Given the description of an element on the screen output the (x, y) to click on. 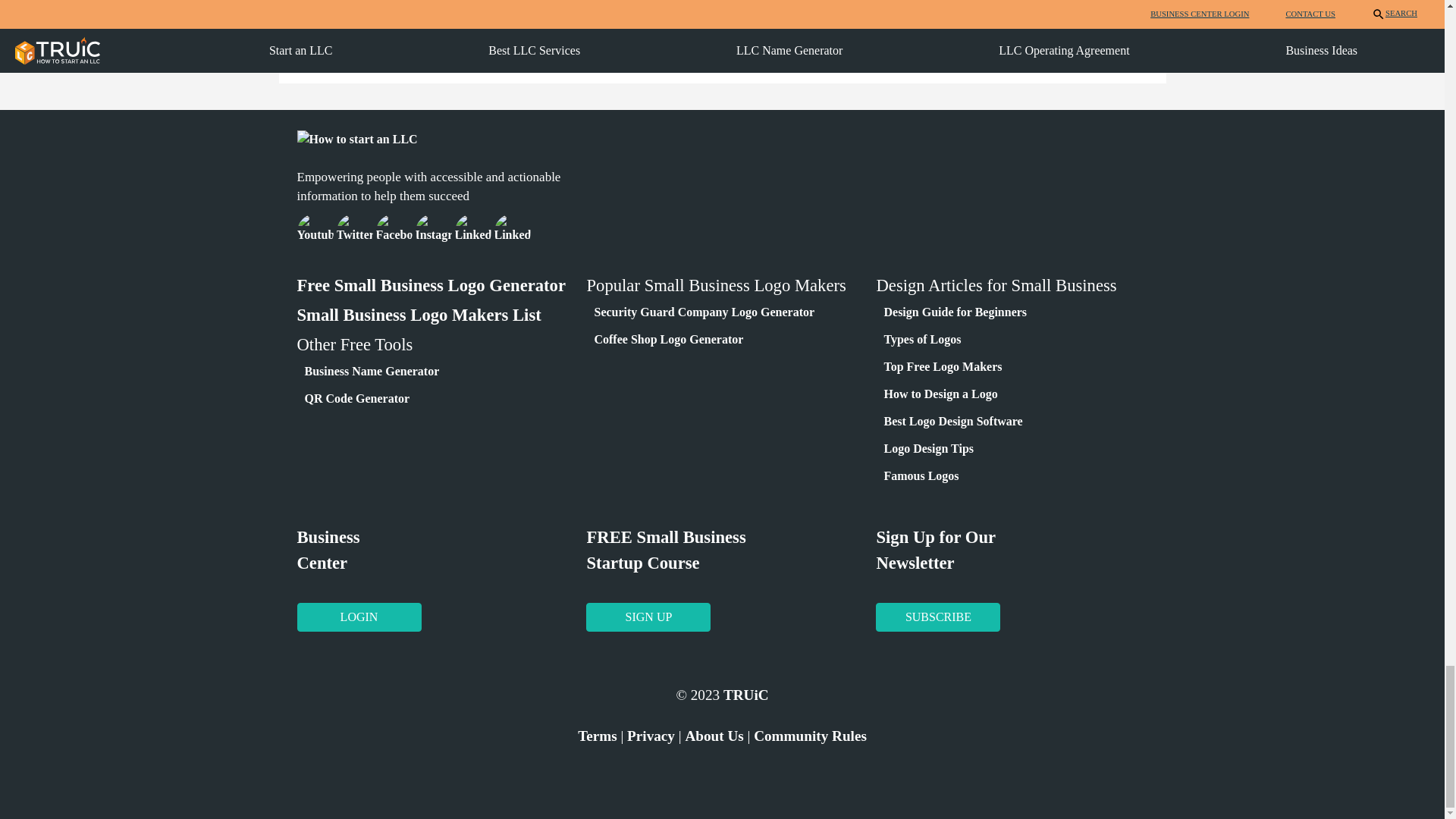
Business Name Generator (371, 370)
Follow us on Instagram (432, 229)
Security Guard Company Logo Generator (703, 311)
Small Business Logo Makers List (419, 314)
Check us out on LinkedIn (473, 229)
How to start an LLC (357, 139)
Small Business Logo Makers List (419, 314)
Free Small Business Logo Generator (431, 285)
Check us out on LinkedIn (513, 229)
Like us on Facebook (393, 229)
